Given the description of an element on the screen output the (x, y) to click on. 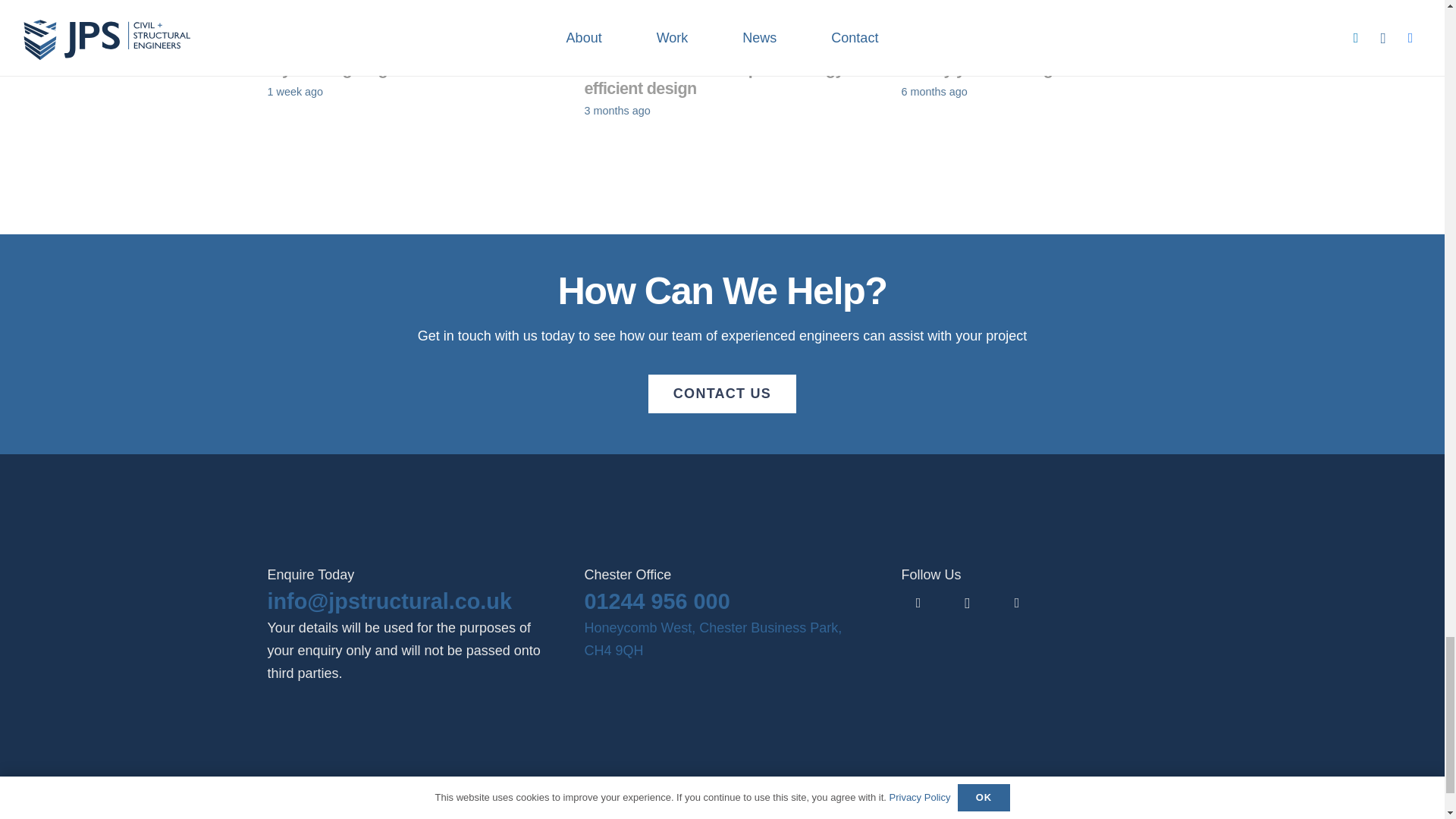
LinkedIn (917, 602)
01244 956 000 (656, 600)
Instagram (967, 602)
Contact (720, 393)
A busy year at Coleg Cambria! (1012, 67)
CONTACT US (720, 393)
Honeycomb West, Chester Business Park, CH4 9QH (712, 638)
